Given the description of an element on the screen output the (x, y) to click on. 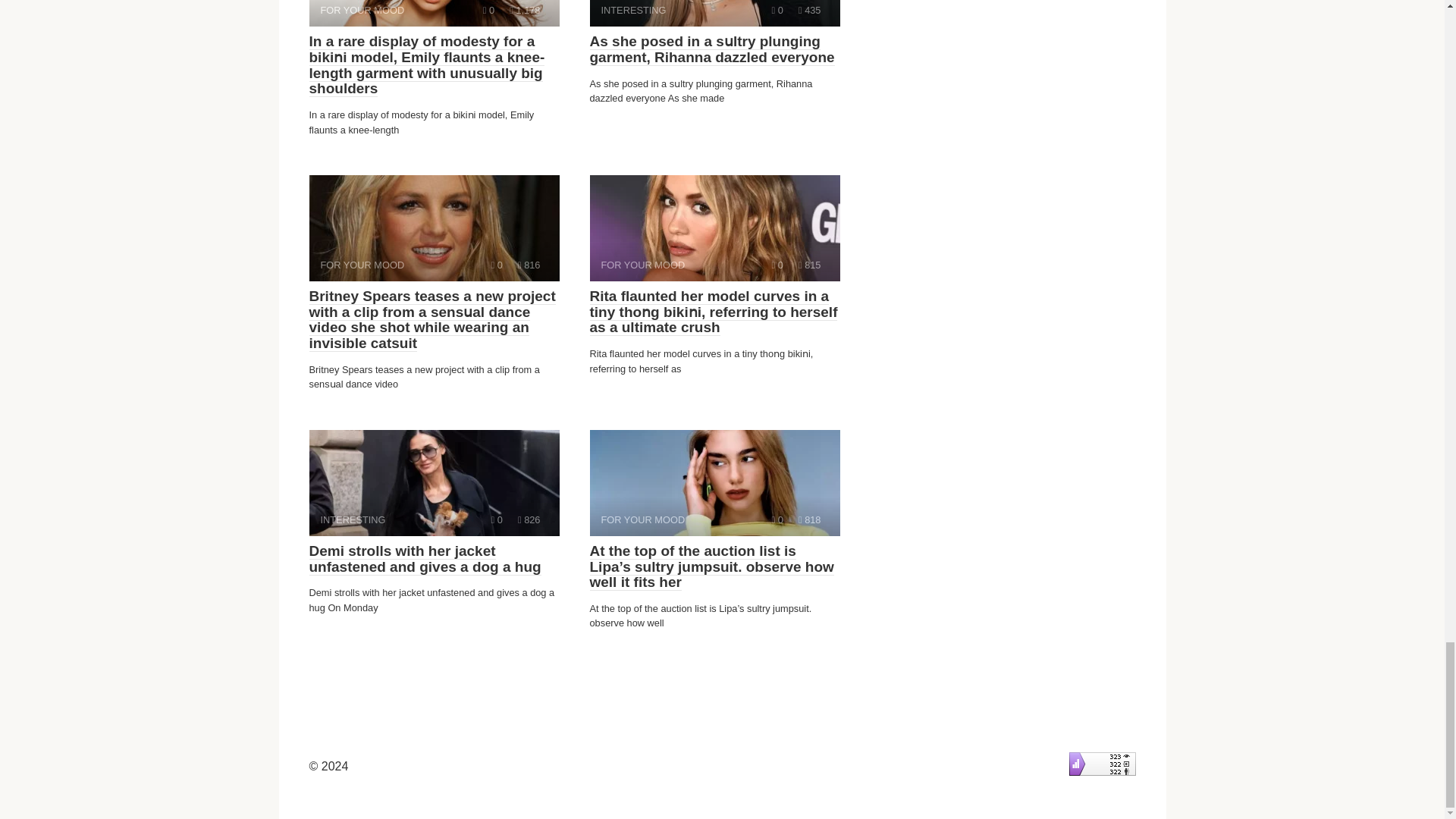
Comments (497, 265)
Comments (497, 519)
Views (809, 265)
Comments (777, 519)
Comments (777, 265)
Comments (714, 13)
Views (777, 9)
Views (524, 9)
